Given the description of an element on the screen output the (x, y) to click on. 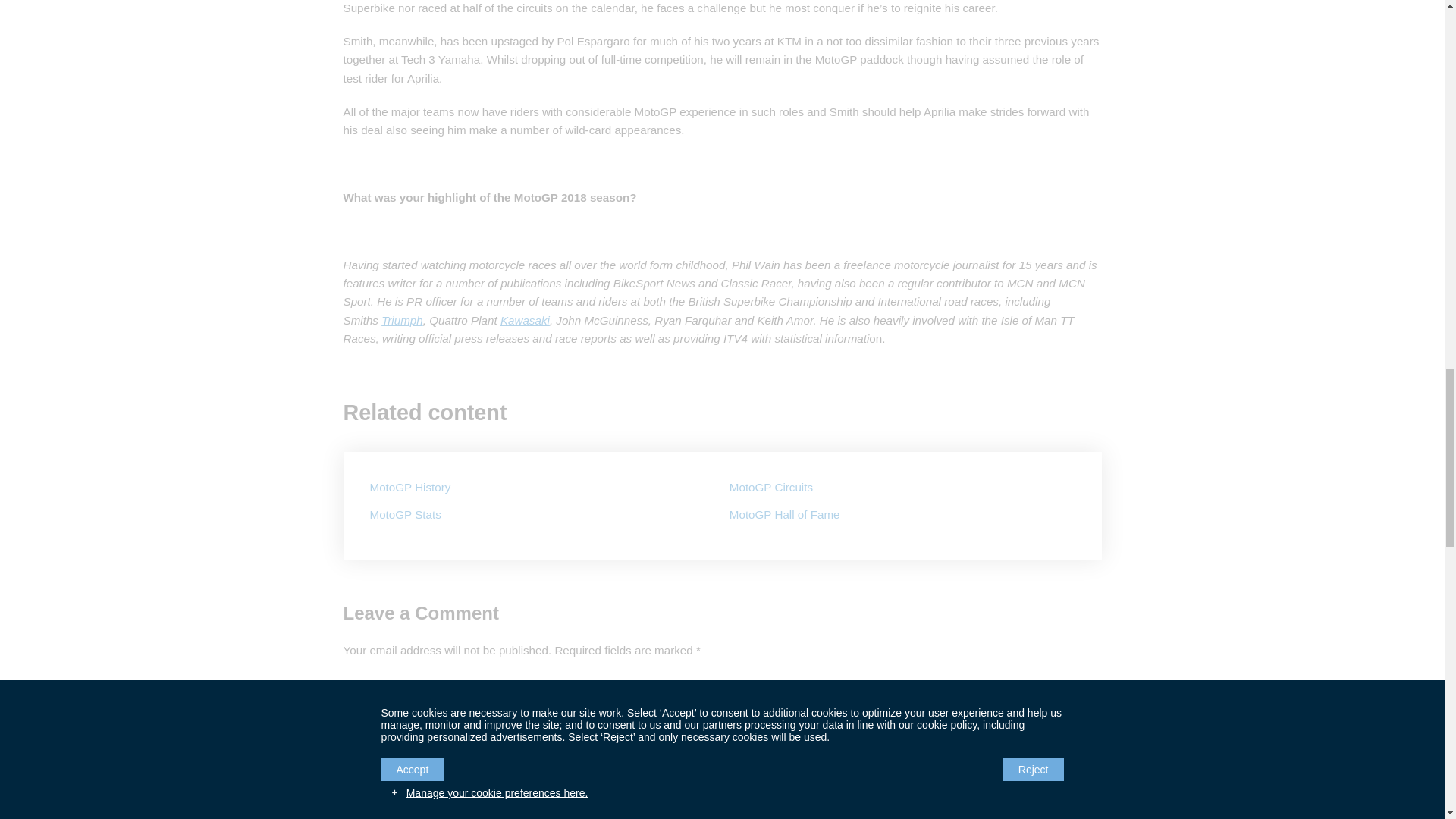
Triumph (402, 319)
Kawasaki (525, 319)
